Given the description of an element on the screen output the (x, y) to click on. 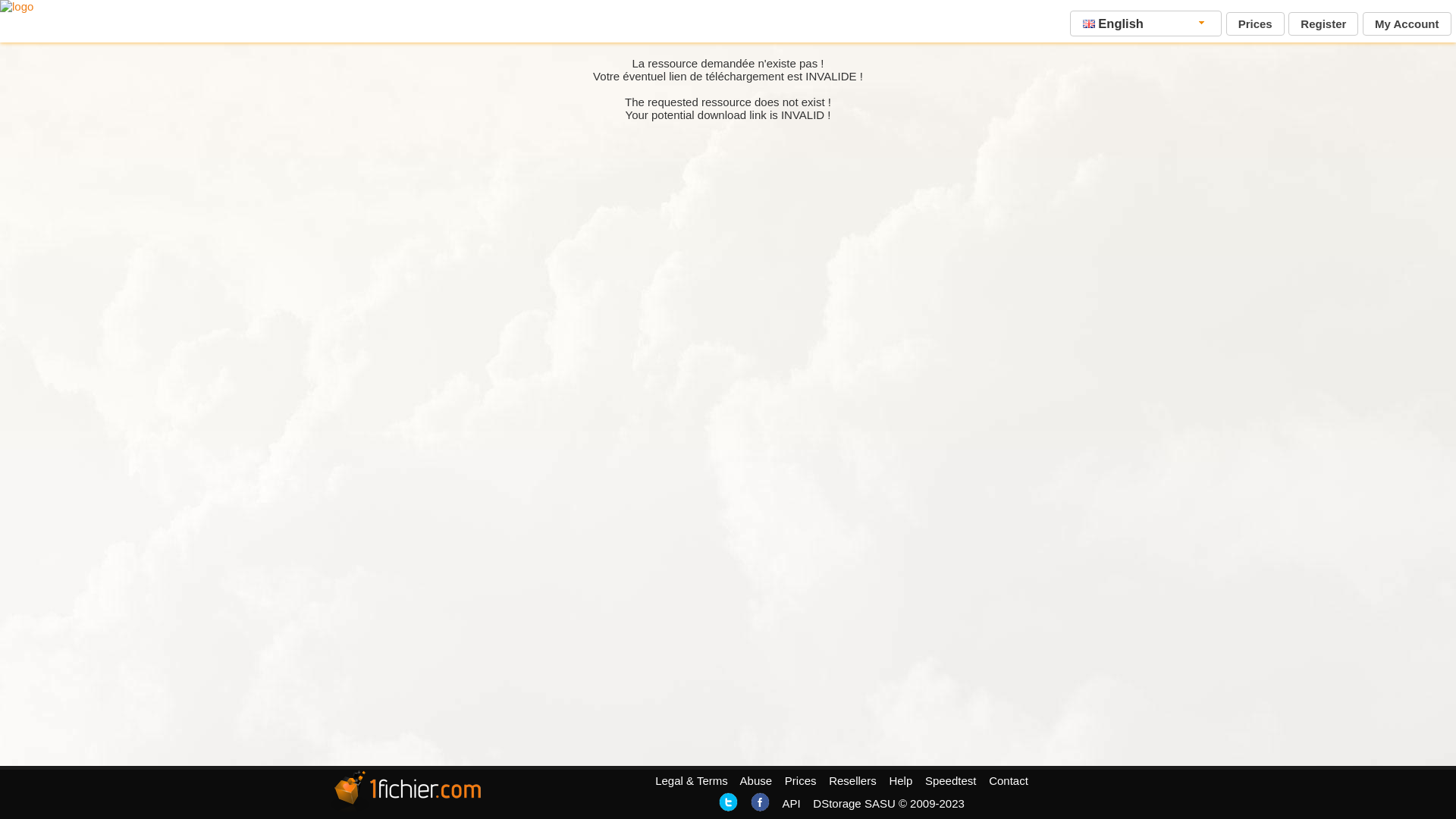
Speedtest Element type: text (950, 780)
API Element type: text (790, 803)
Prices Element type: text (1255, 23)
Abuse Element type: text (756, 780)
Prices Element type: text (800, 780)
Register Element type: text (1323, 23)
Resellers Element type: text (852, 780)
Legal & Terms Element type: text (691, 780)
Contact Element type: text (1008, 780)
Help Element type: text (900, 780)
My Account Element type: text (1406, 23)
